Given the description of an element on the screen output the (x, y) to click on. 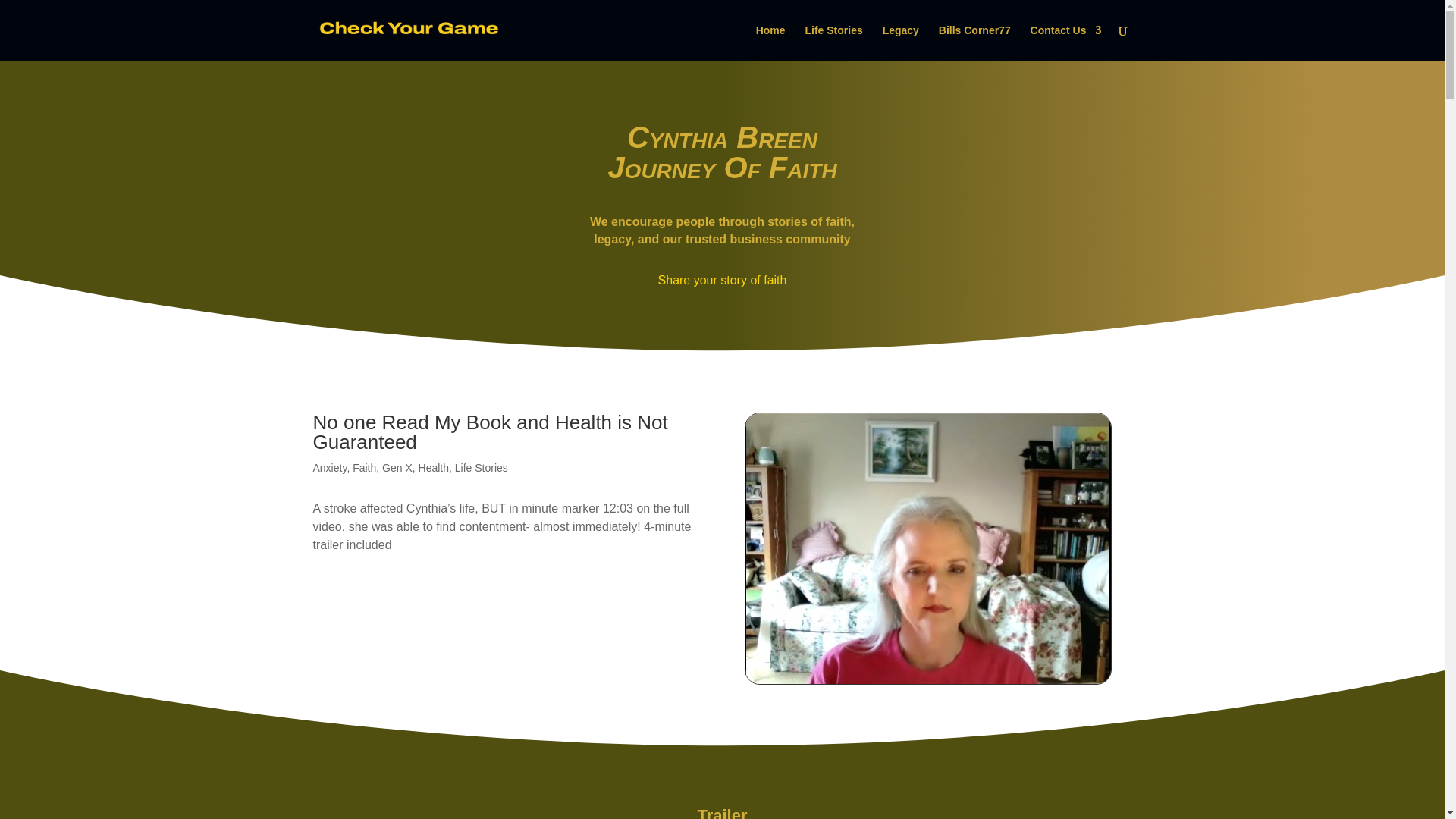
Anxiety (329, 467)
Cynthia Breen 1 (927, 548)
Gen X (396, 467)
Life Stories (833, 42)
Life Stories (481, 467)
Contact Us (1066, 42)
Legacy (900, 42)
Faith (363, 467)
Bills Corner77 (974, 42)
Health (433, 467)
